Given the description of an element on the screen output the (x, y) to click on. 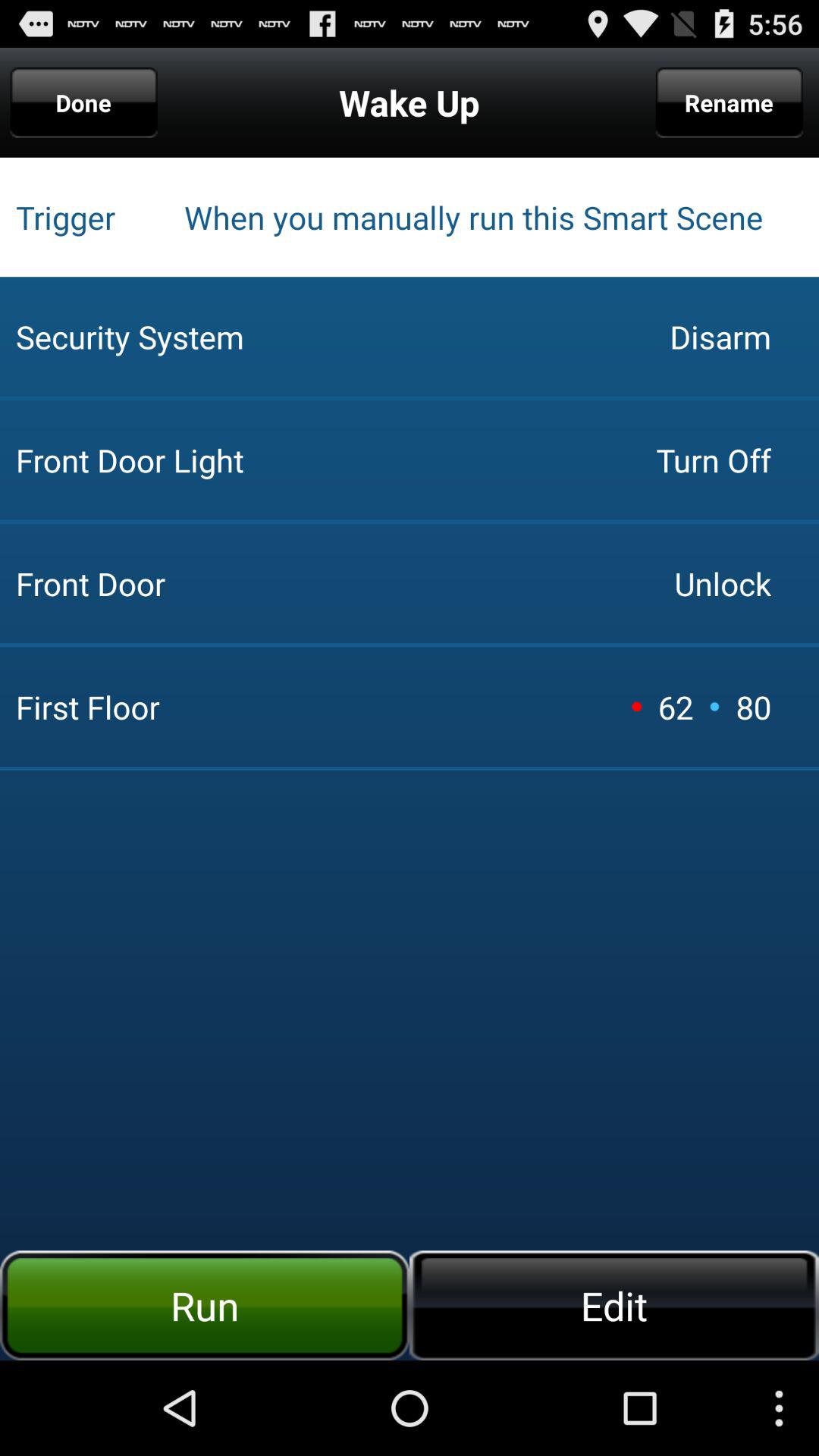
click icon next to the front door app (713, 459)
